Given the description of an element on the screen output the (x, y) to click on. 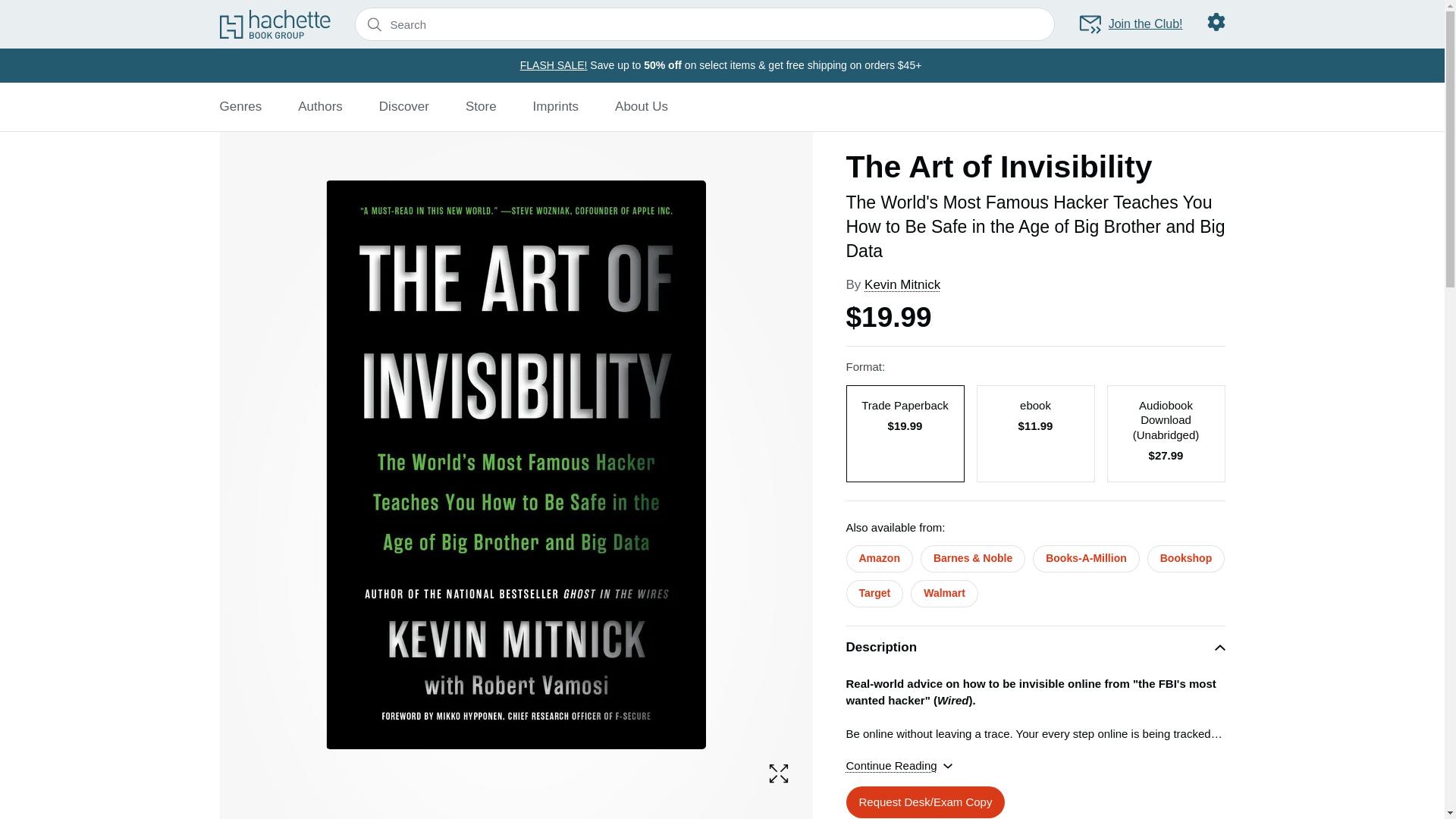
FLASH SALE! (553, 64)
Join the Club! (1130, 24)
Go to Hachette Book Group home (274, 23)
Genres (240, 106)
